Given the description of an element on the screen output the (x, y) to click on. 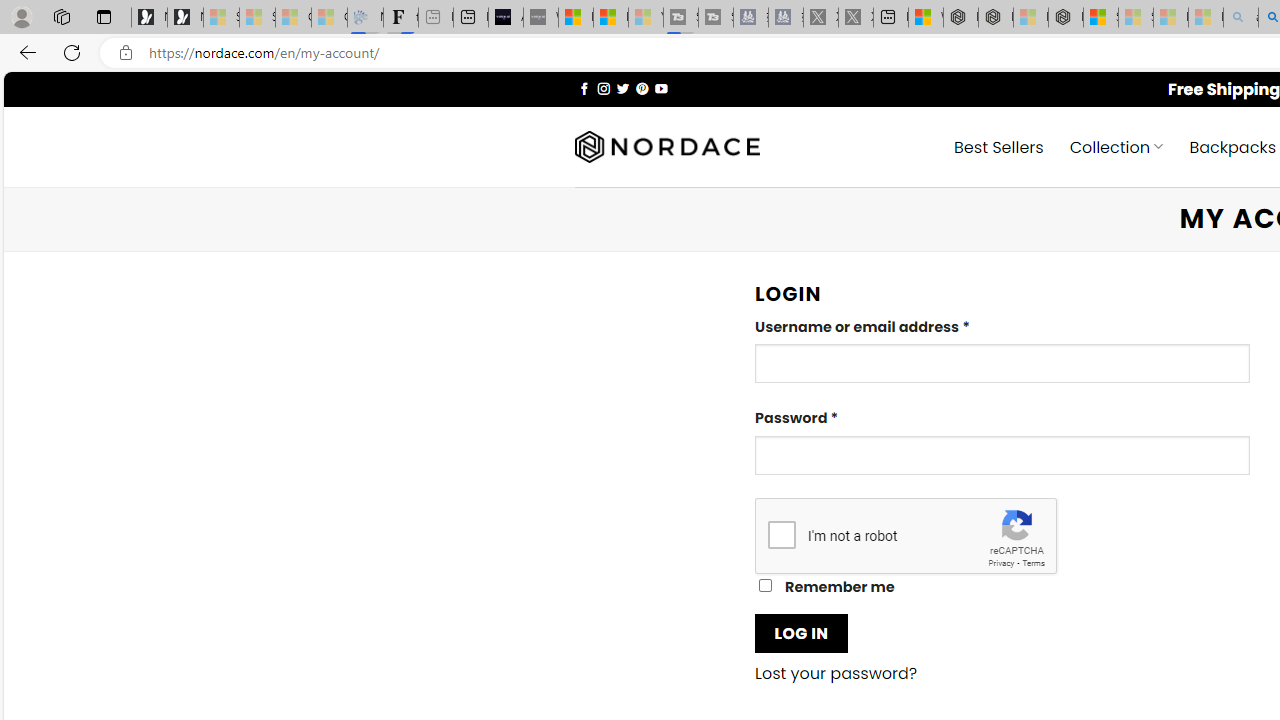
What's the best AI voice generator? - voice.ai - Sleeping (540, 17)
Follow on Twitter (621, 88)
LOG IN (801, 632)
Remember me (765, 585)
AI Voice Changer for PC and Mac - Voice.ai (506, 17)
Privacy (1001, 562)
